Given the description of an element on the screen output the (x, y) to click on. 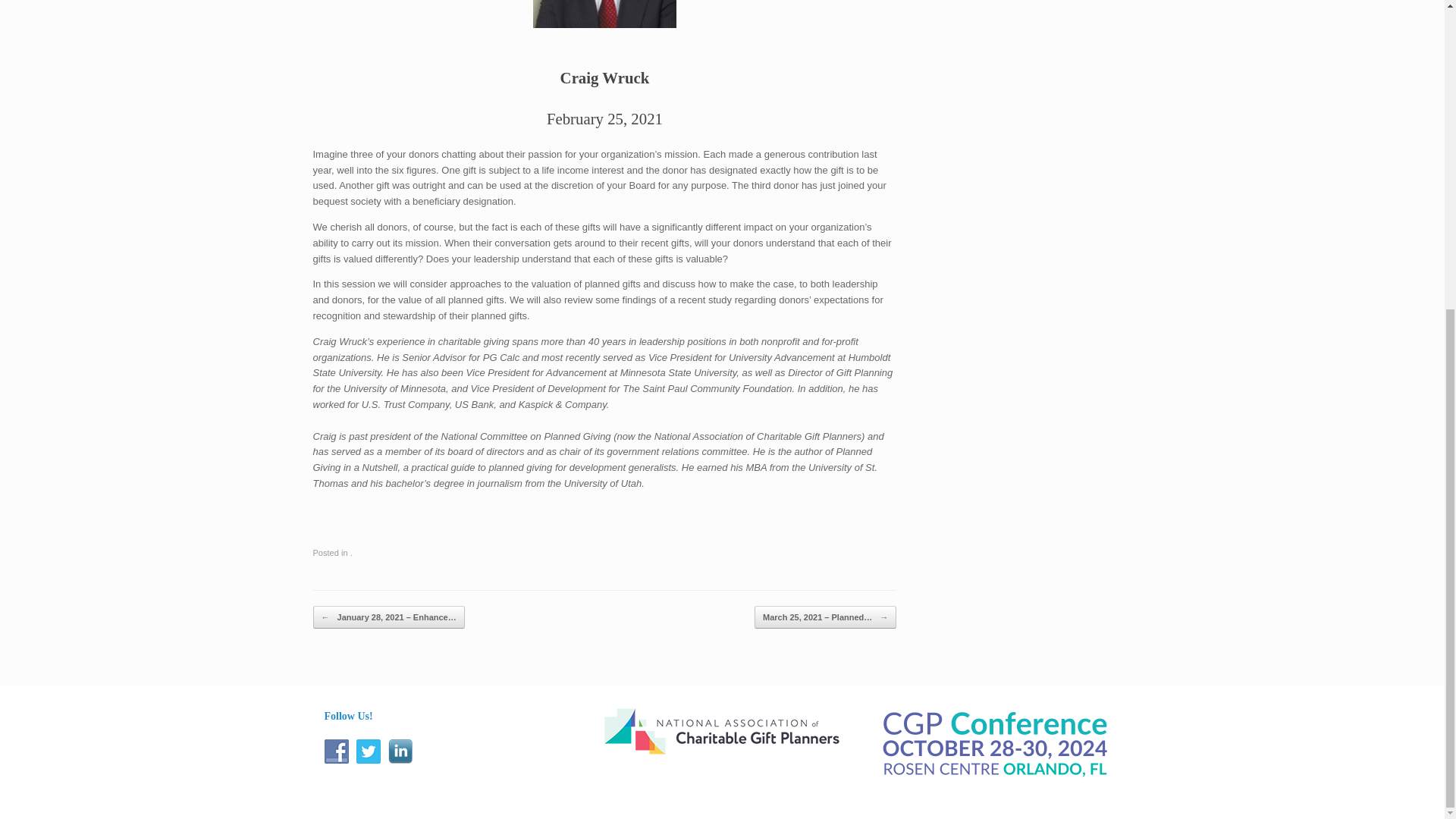
Follow Us on Twitter (368, 751)
Follow Us on LinkedIn (400, 751)
Follow Us on Facebook (336, 751)
